Given the description of an element on the screen output the (x, y) to click on. 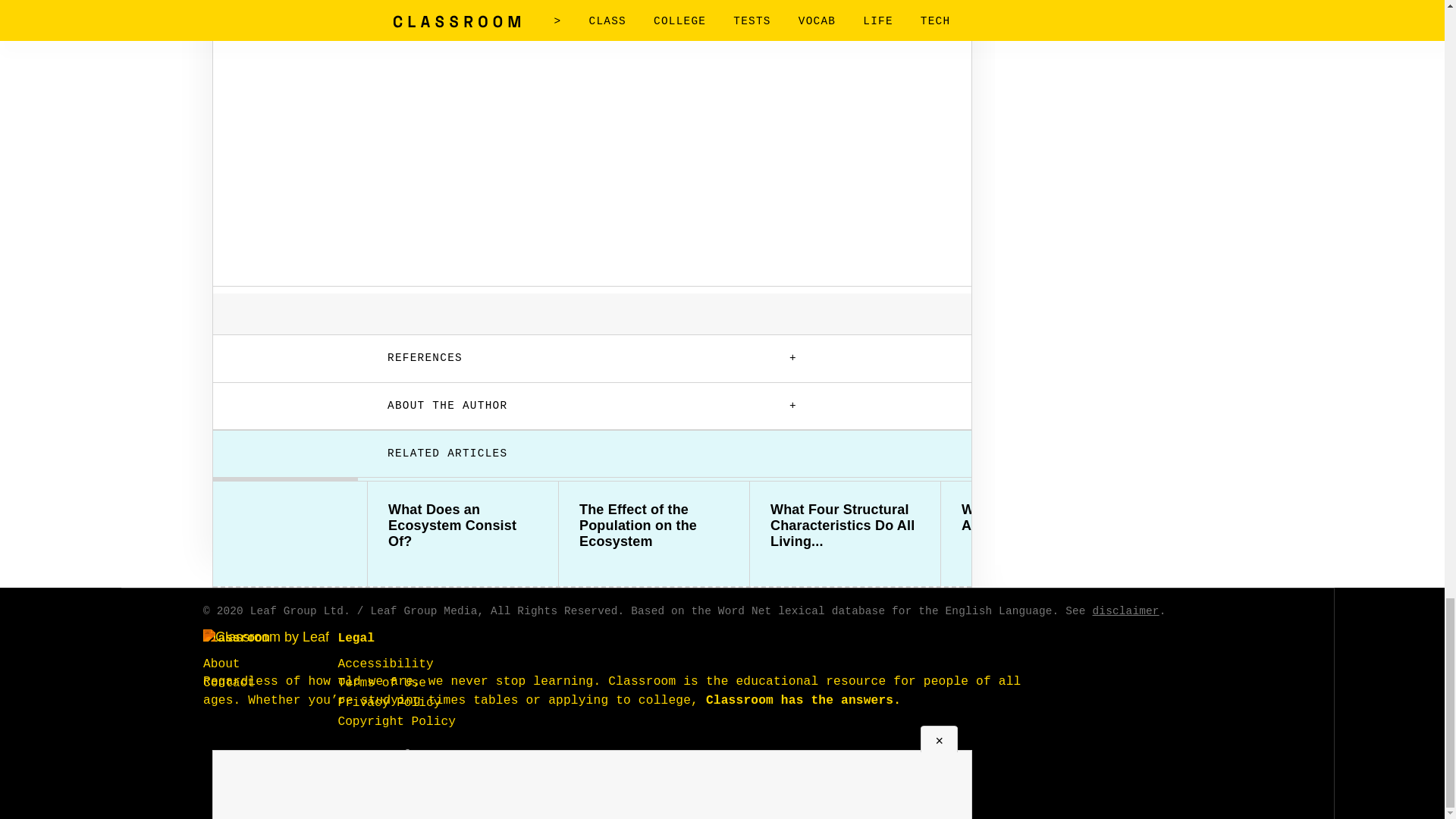
What Four Structural Characteristics Do All Living... (844, 525)
Contact (228, 683)
What Does an Ecosystem Consist Of? (462, 525)
What Is Aerobic vs. Anaerobic in Biology? (1035, 517)
Accessibility (384, 663)
Terms of Use (381, 683)
Grassland Ecosystem Food Chain in Africa (1227, 517)
Privacy Policy (389, 703)
The Effect of the Population on the Ecosystem (654, 525)
About (221, 663)
